Given the description of an element on the screen output the (x, y) to click on. 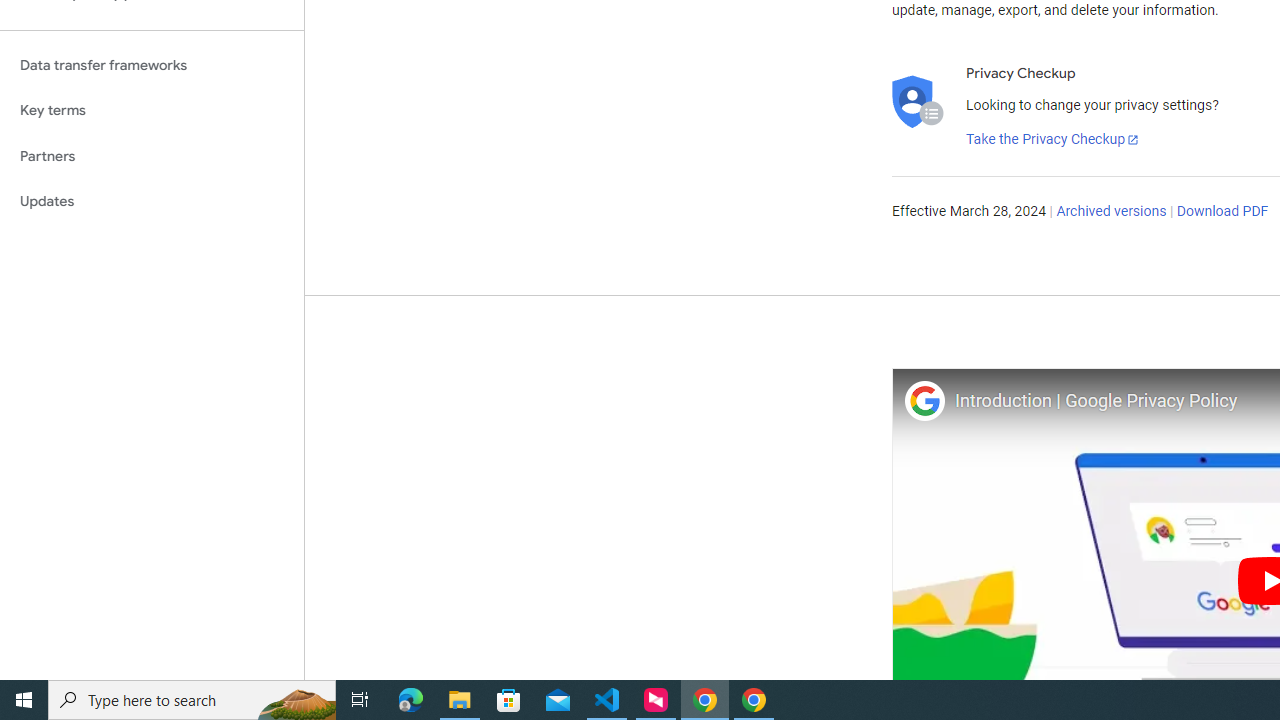
Data transfer frameworks (152, 65)
Key terms (152, 110)
Updates (152, 201)
Download PDF (1222, 212)
Partners (152, 156)
Photo image of Google (924, 400)
Archived versions (1111, 212)
Take the Privacy Checkup (1053, 140)
